Given the description of an element on the screen output the (x, y) to click on. 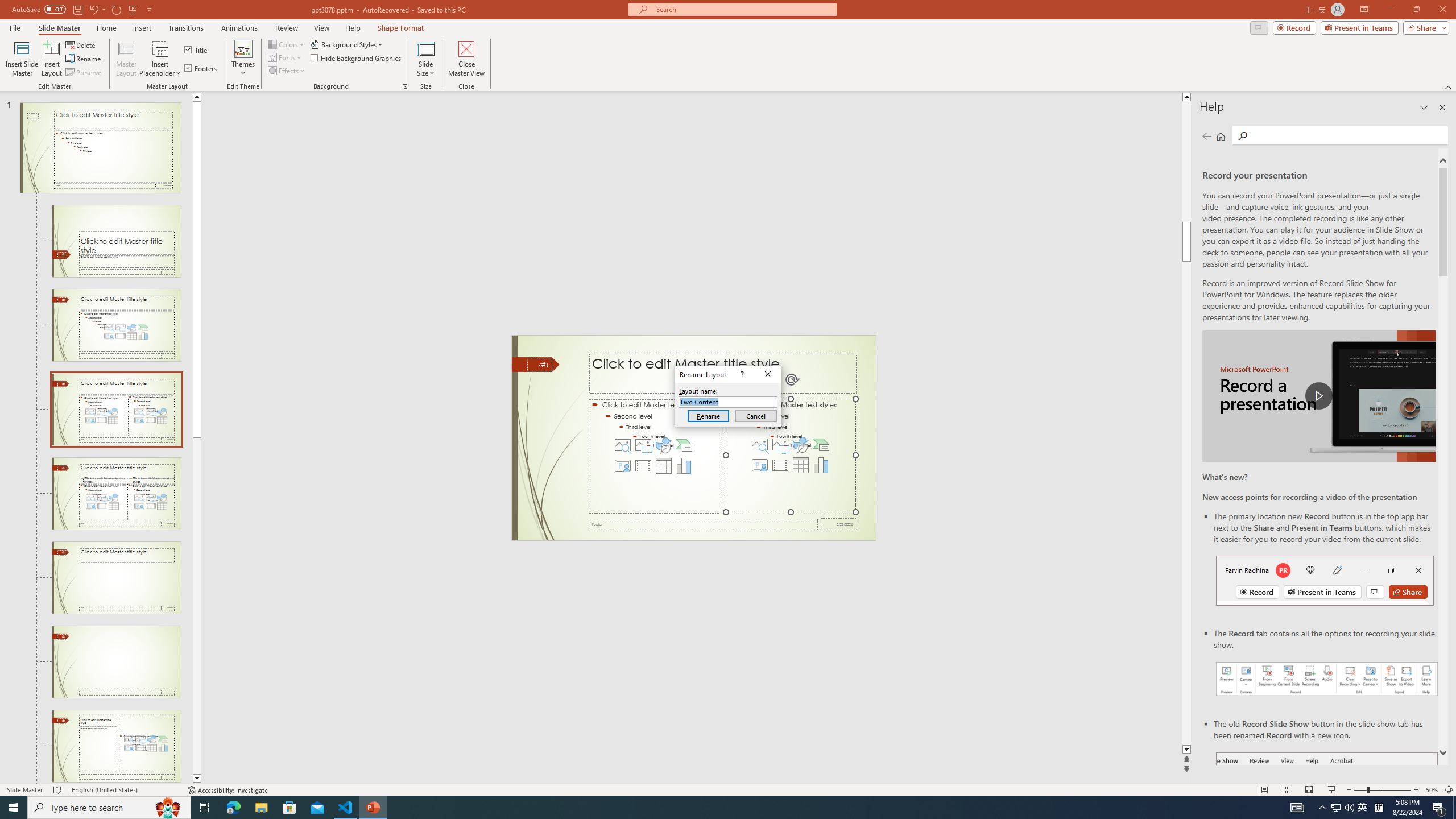
Slide Title Only Layout: used by no slides (116, 661)
Close Master View (466, 58)
Insert Chart (820, 465)
Slide Two Content Layout: used by no slides (116, 493)
Running applications (707, 807)
Insert an Icon (800, 444)
